Given the description of an element on the screen output the (x, y) to click on. 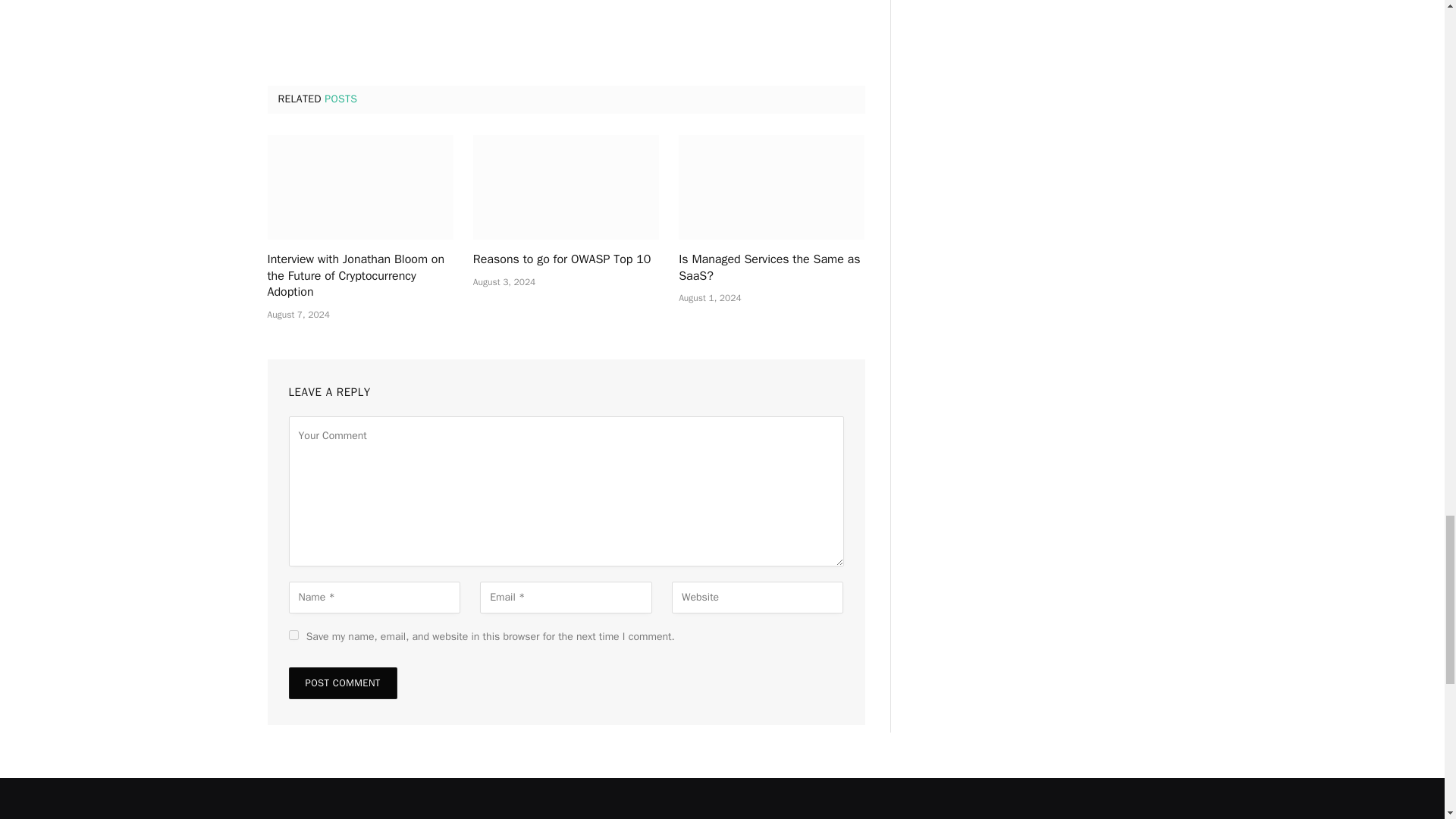
yes (293, 634)
Post Comment (342, 683)
